Given the description of an element on the screen output the (x, y) to click on. 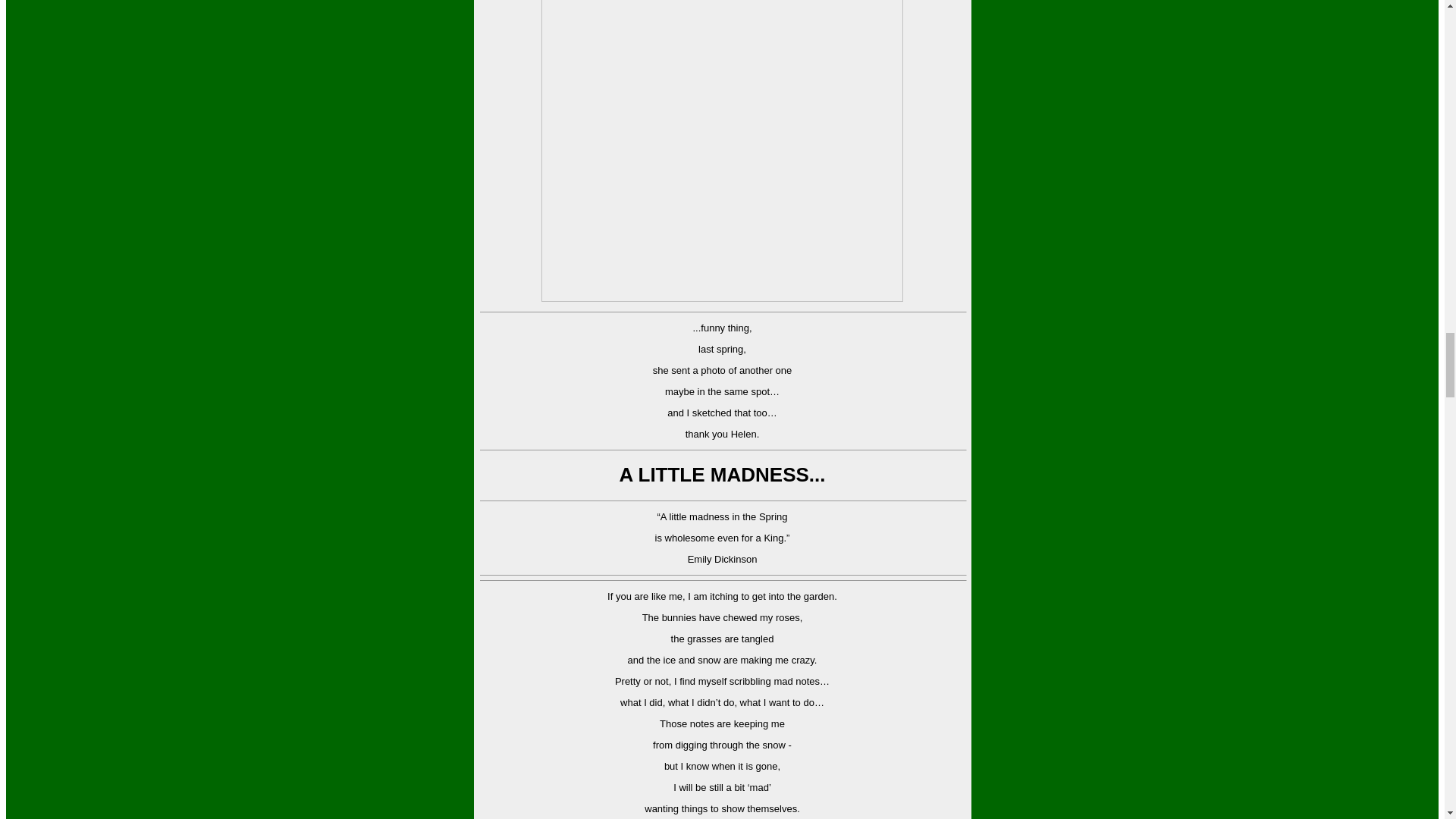
my snowdrops sketch (721, 151)
